Given the description of an element on the screen output the (x, y) to click on. 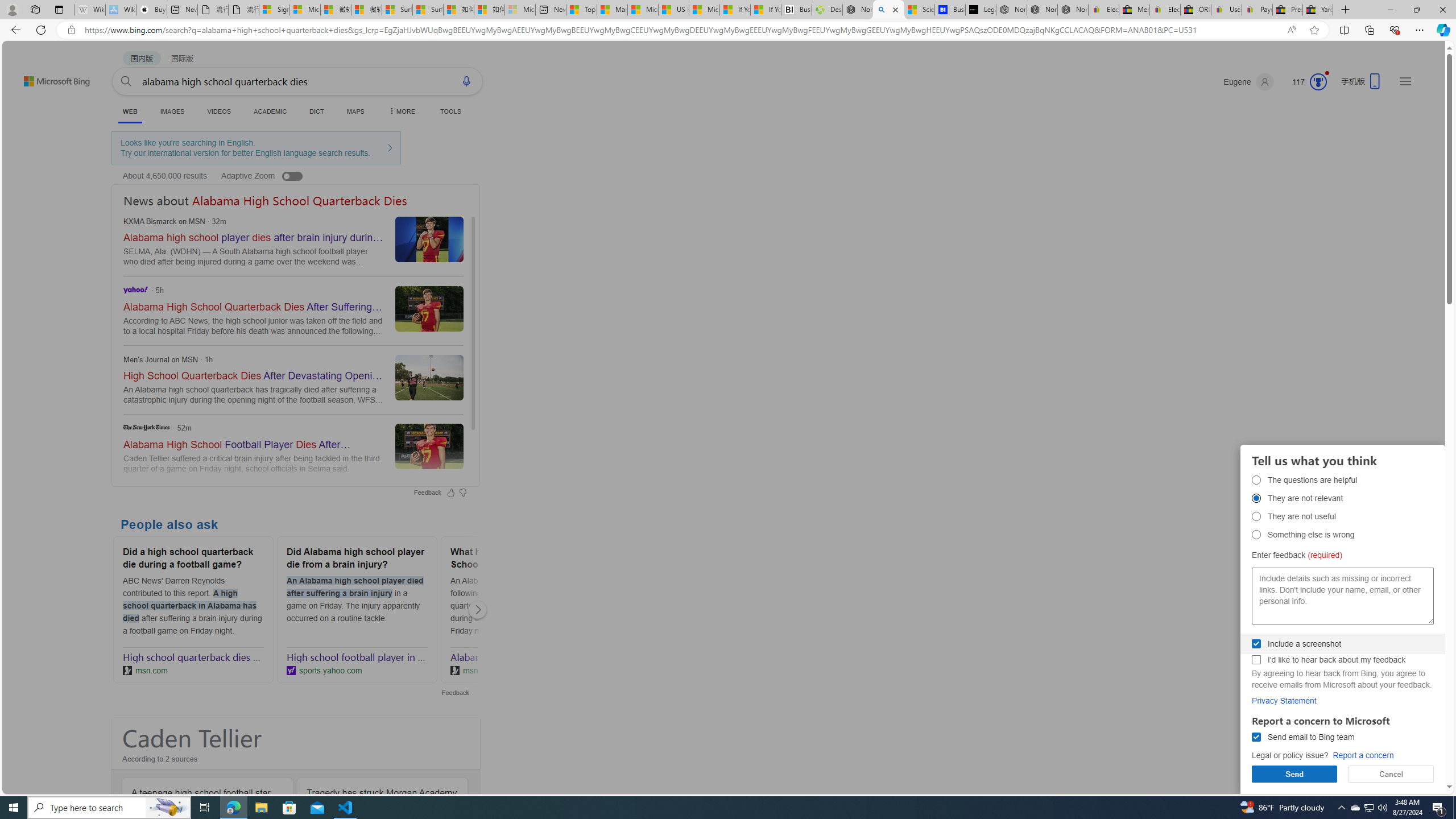
Report a concern (1362, 755)
Send (1294, 773)
AutomationID: fbpgdgnotrel (1256, 497)
Address and search bar (680, 29)
Electronics, Cars, Fashion, Collectibles & More | eBay (1164, 9)
Send email to Bing team Send email to Bing team (1256, 737)
